Given the description of an element on the screen output the (x, y) to click on. 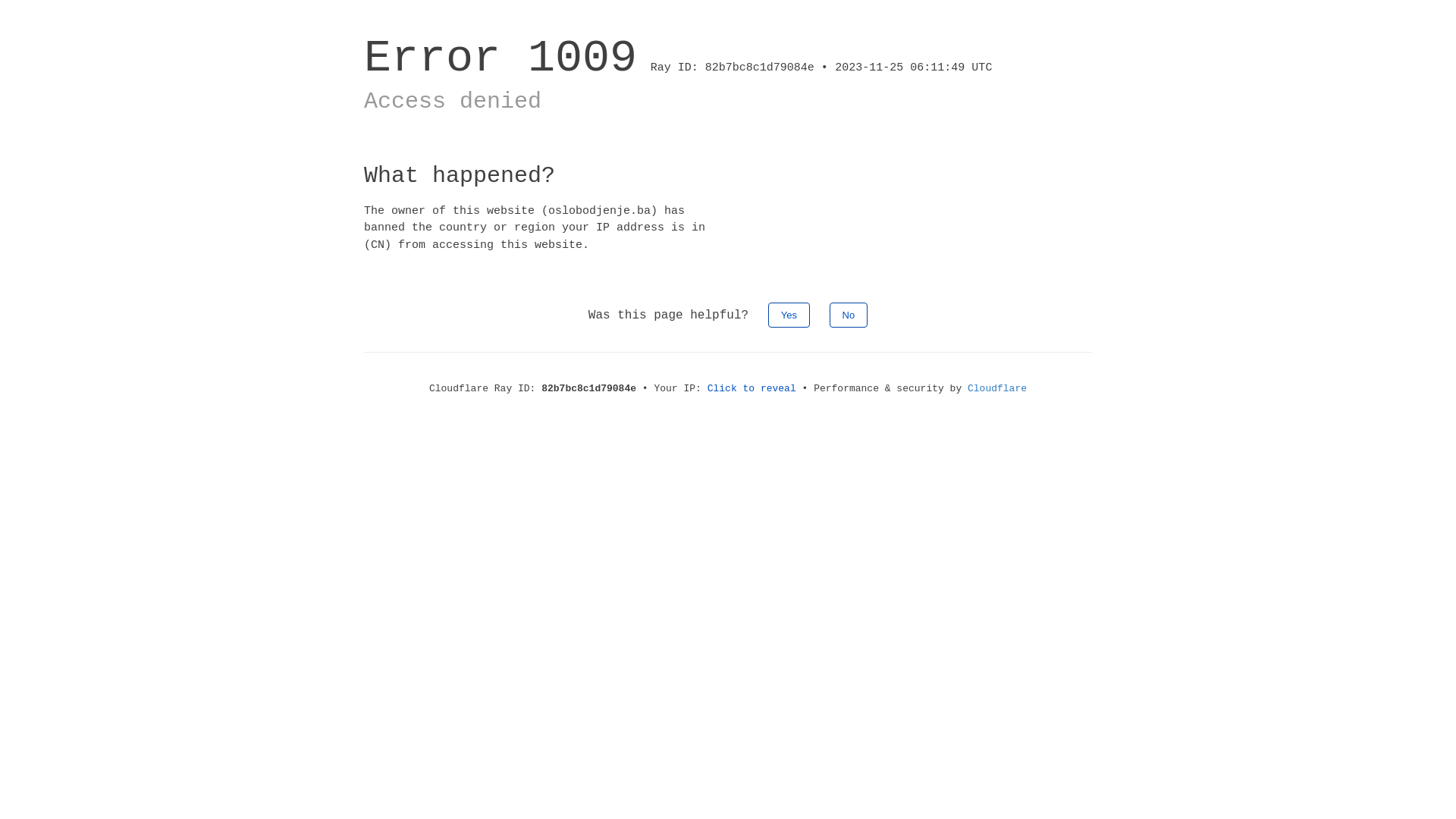
No Element type: text (848, 314)
Click to reveal Element type: text (751, 388)
Yes Element type: text (788, 314)
Cloudflare Element type: text (996, 388)
